Given the description of an element on the screen output the (x, y) to click on. 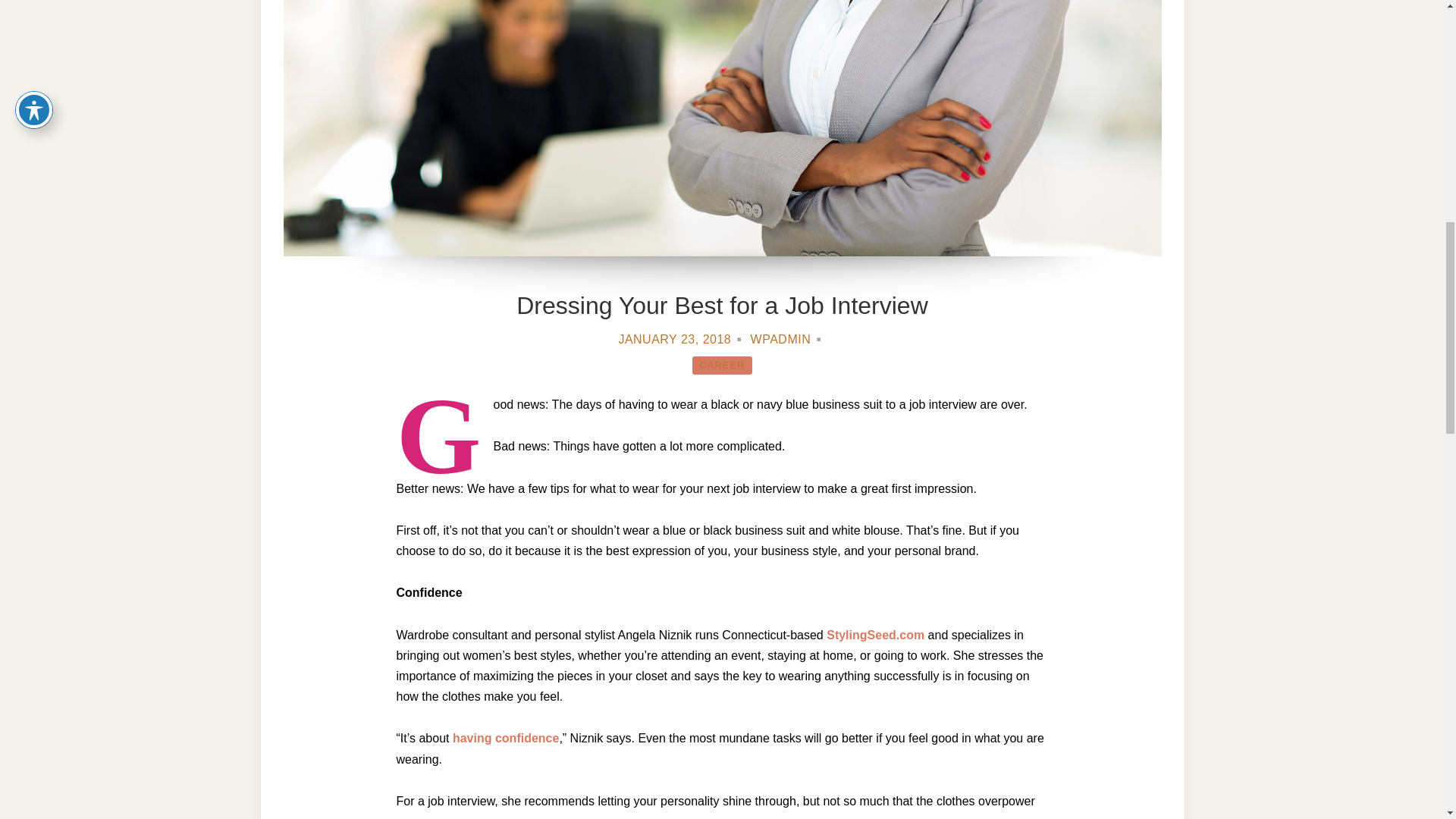
having confidence (505, 738)
CAREER (722, 365)
JANUARY 23, 2018 (673, 338)
WPADMIN (780, 338)
StylingSeed.com (875, 634)
